Given the description of an element on the screen output the (x, y) to click on. 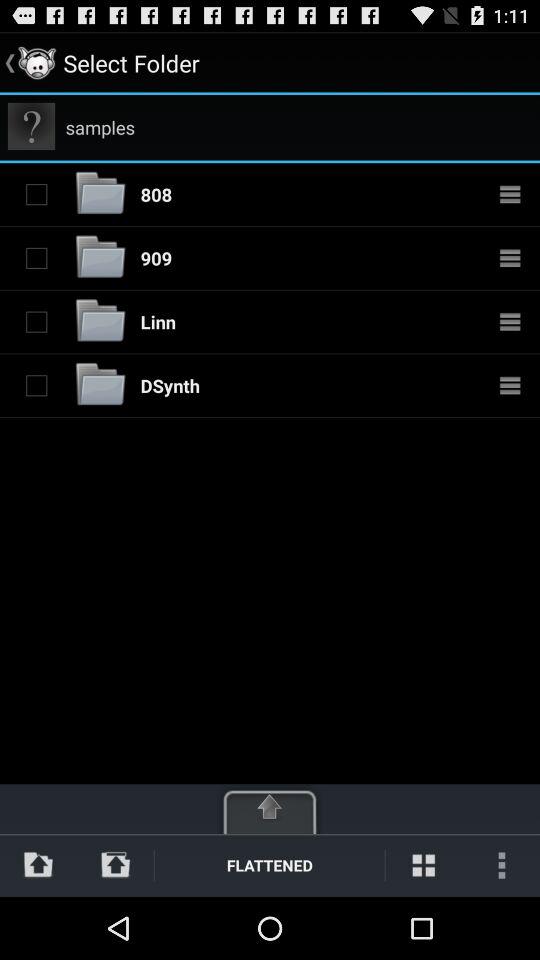
select the folder (36, 385)
